Given the description of an element on the screen output the (x, y) to click on. 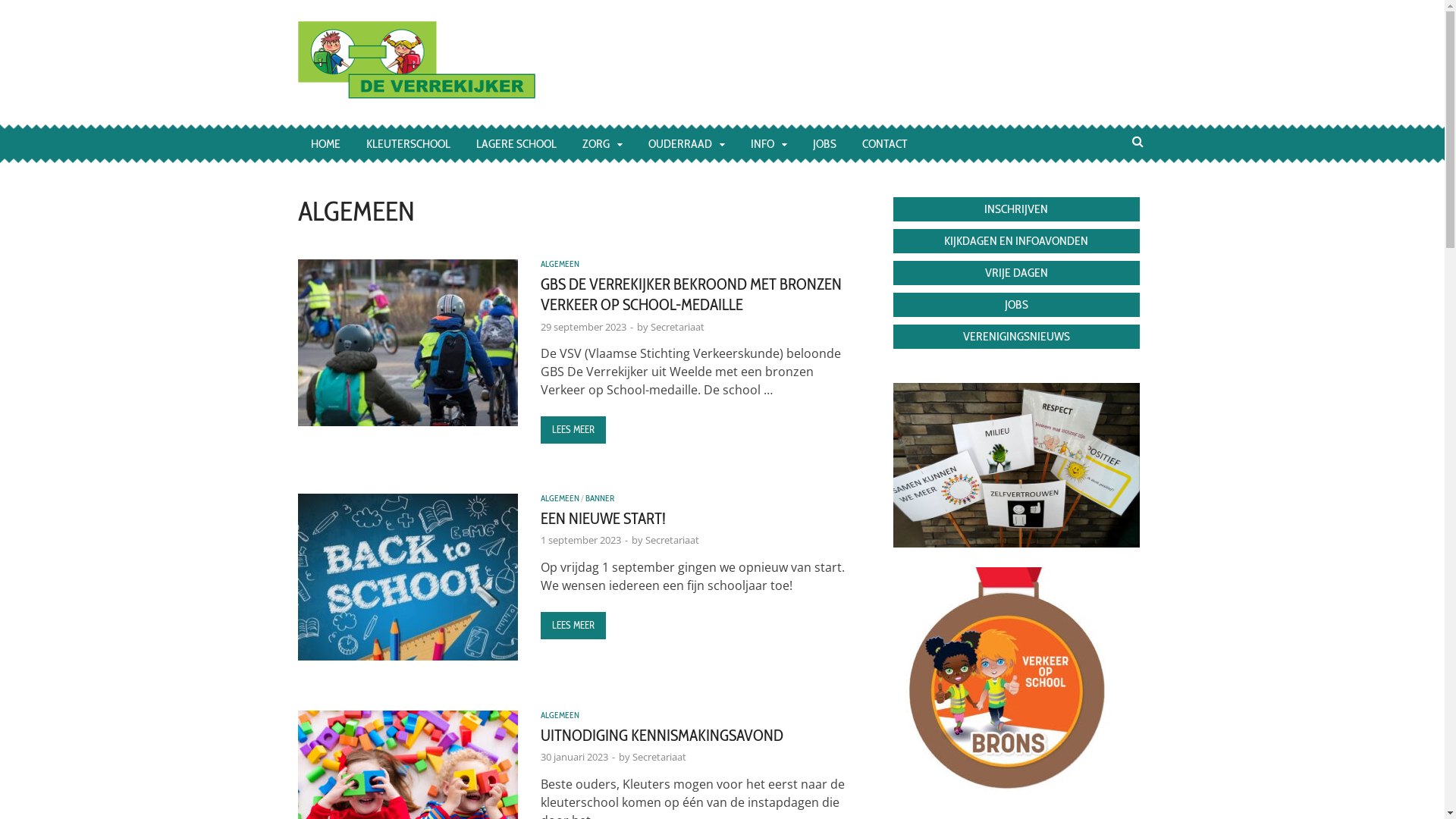
JOBS Element type: text (1016, 304)
BANNER Element type: text (599, 497)
LAGERE SCHOOL Element type: text (515, 143)
29 september 2023 Element type: text (582, 326)
KLEUTERSCHOOL Element type: text (408, 143)
ALGEMEEN Element type: text (558, 714)
HOME Element type: text (324, 143)
INSCHRIJVEN Element type: text (1016, 209)
CONTACT Element type: text (884, 143)
GBS De Verrekijker Element type: text (672, 52)
OUDERRAAD Element type: text (686, 143)
ALGEMEEN Element type: text (558, 263)
Secretariaat Element type: text (671, 539)
ZORG Element type: text (601, 143)
1 september 2023 Element type: text (579, 539)
Secretariaat Element type: text (677, 326)
LEES MEER Element type: text (572, 429)
EEN NIEUWE START! Element type: text (602, 517)
30 januari 2023 Element type: text (573, 756)
KIJKDAGEN EN INFOAVONDEN Element type: text (1016, 241)
INFO Element type: text (768, 143)
Secretariaat Element type: text (659, 756)
JOBS Element type: text (823, 143)
ALGEMEEN Element type: text (558, 497)
VERENIGINGSNIEUWS Element type: text (1016, 336)
VRIJE DAGEN Element type: text (1016, 272)
LEES MEER Element type: text (572, 625)
UITNODIGING KENNISMAKINGSAVOND Element type: text (660, 734)
